Given the description of an element on the screen output the (x, y) to click on. 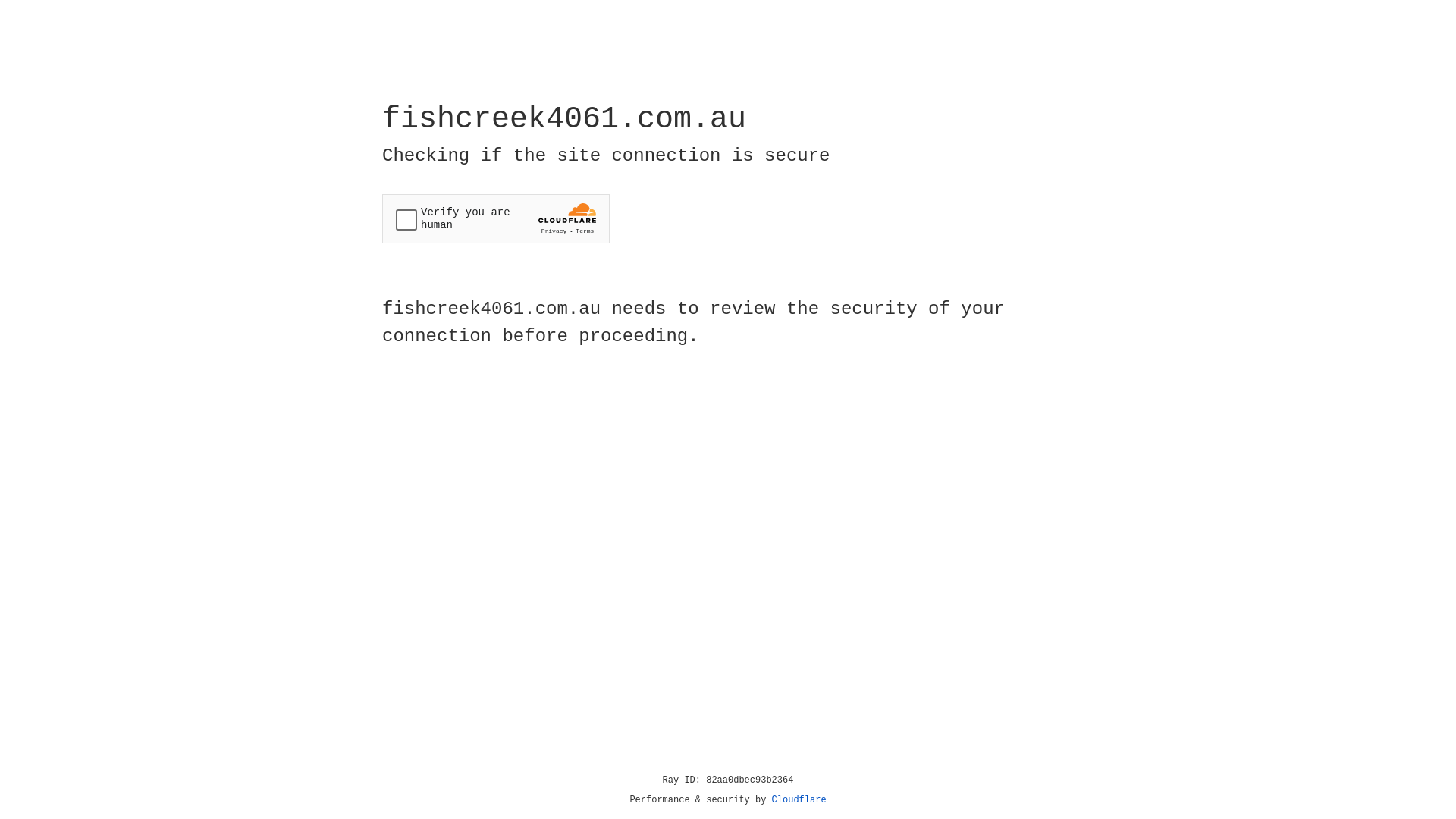
Cloudflare Element type: text (798, 799)
Widget containing a Cloudflare security challenge Element type: hover (495, 218)
